Given the description of an element on the screen output the (x, y) to click on. 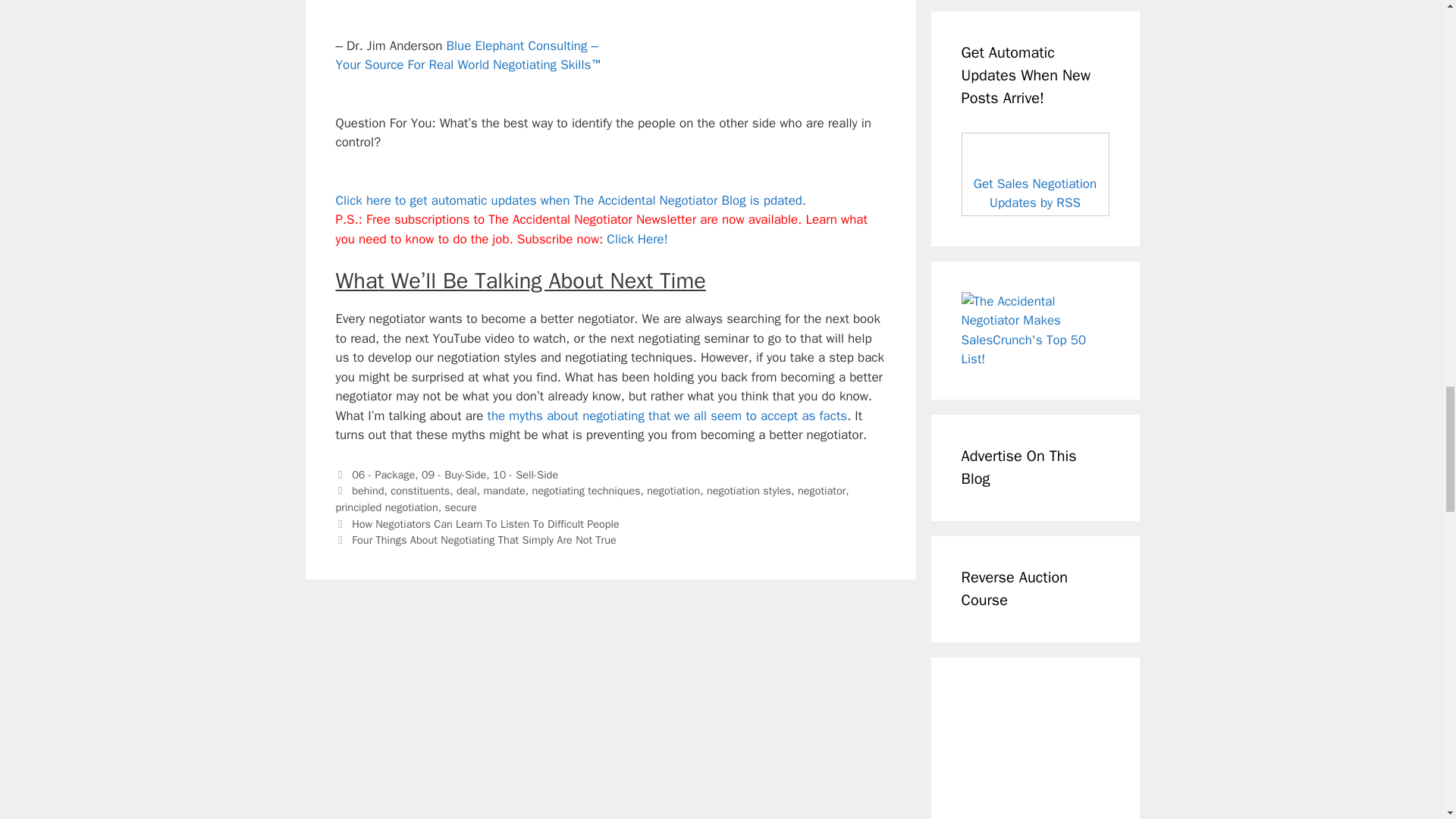
negotiation (673, 490)
Subscribe to The Accidental Negotiator Newsletter (636, 238)
constituents (419, 490)
behind (368, 490)
 Four Things About Negotiating That Are Not True  (667, 415)
The Accidental Negotiator Makes SalesCrunch's Top 50 List! (1034, 330)
deal (467, 490)
06 - Package (383, 474)
How Negotiators Can Learn To Listen To Difficult People (486, 523)
Click Here! (636, 238)
negotiating techniques (586, 490)
Get Sales Negotiation Updates by RSS (1035, 193)
10 - Sell-Side (525, 474)
negotiation styles (748, 490)
